Given the description of an element on the screen output the (x, y) to click on. 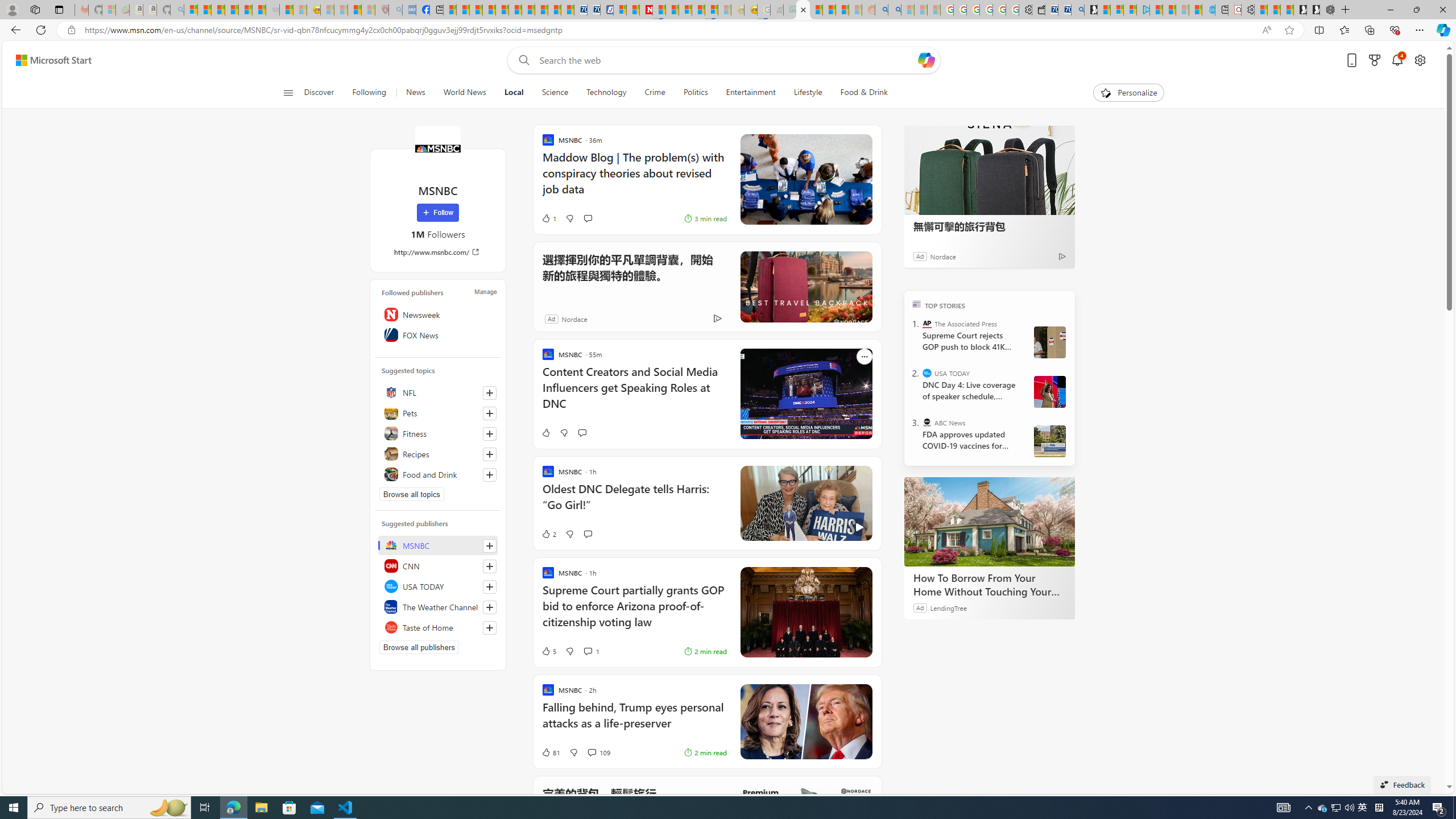
81 Like (549, 752)
The Weather Channel (437, 606)
Fitness (437, 433)
